Given the description of an element on the screen output the (x, y) to click on. 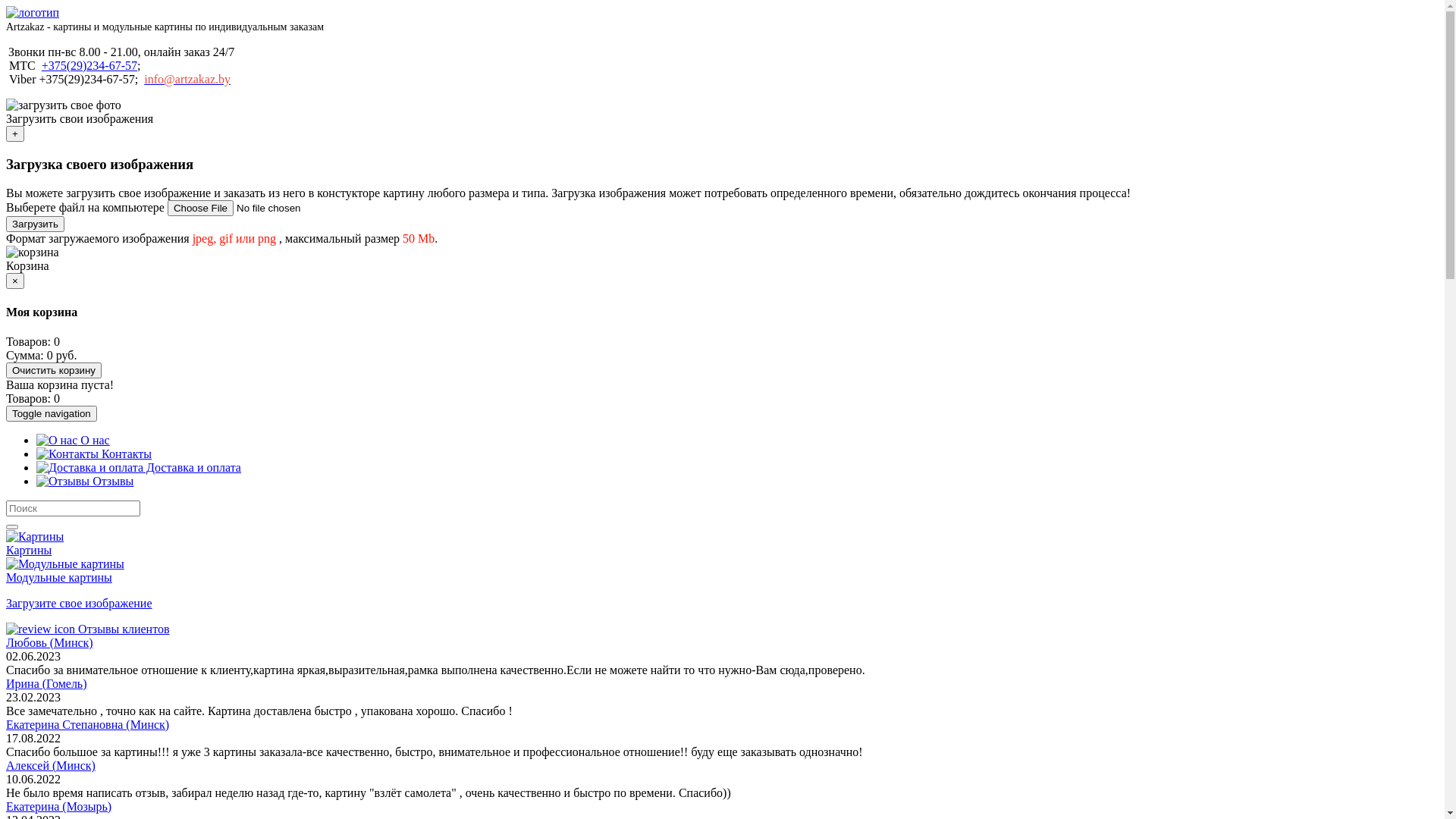
info@artzakaz.by Element type: text (187, 78)
+ Element type: text (15, 133)
Toggle navigation Element type: text (51, 413)
+375(29)234-67-57 Element type: text (89, 65)
review icon Element type: hover (40, 629)
